Given the description of an element on the screen output the (x, y) to click on. 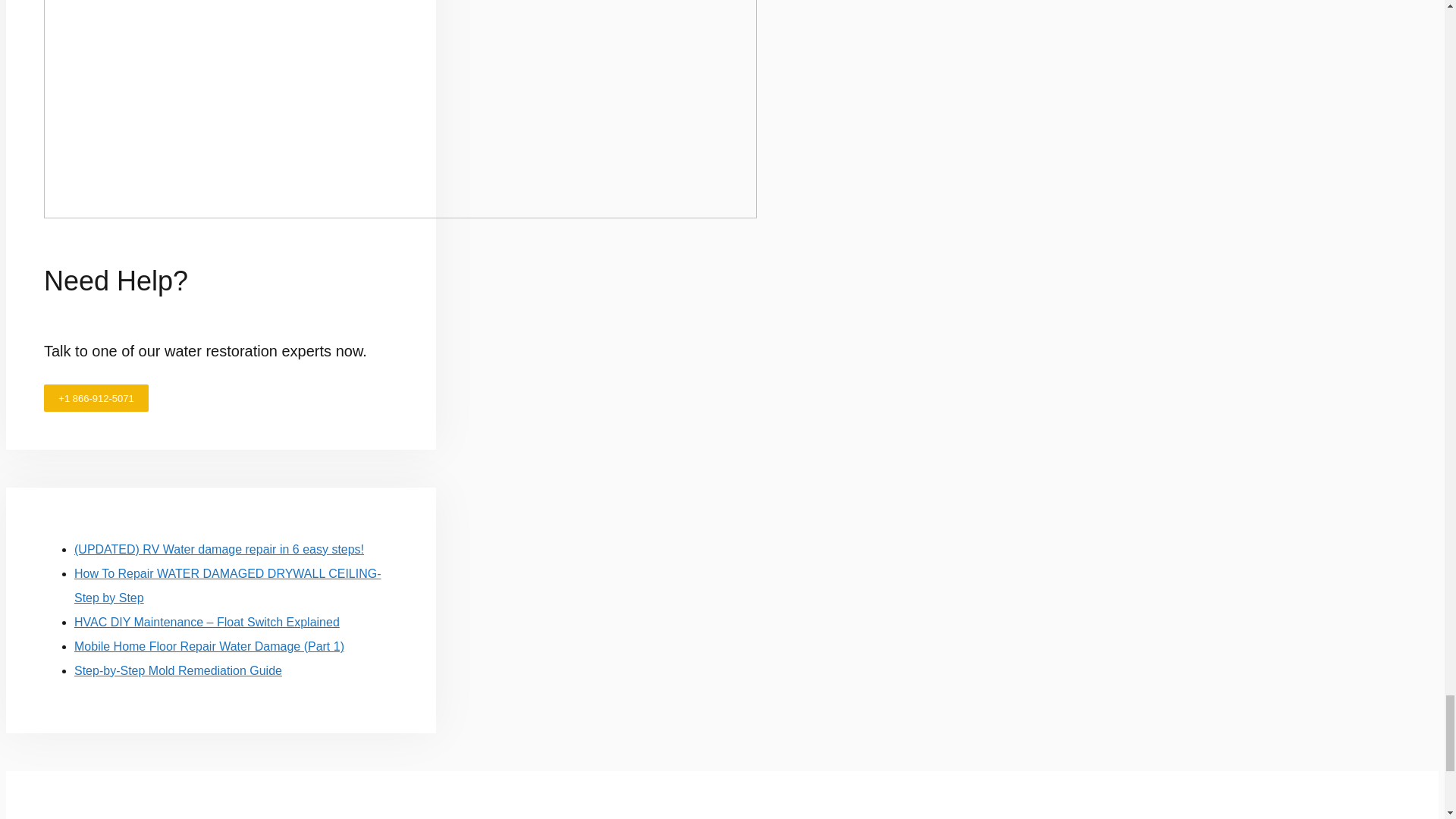
How To Repair WATER DAMAGED DRYWALL CEILING- Step by Step (227, 585)
Step-by-Step Mold Remediation Guide (178, 670)
